Given the description of an element on the screen output the (x, y) to click on. 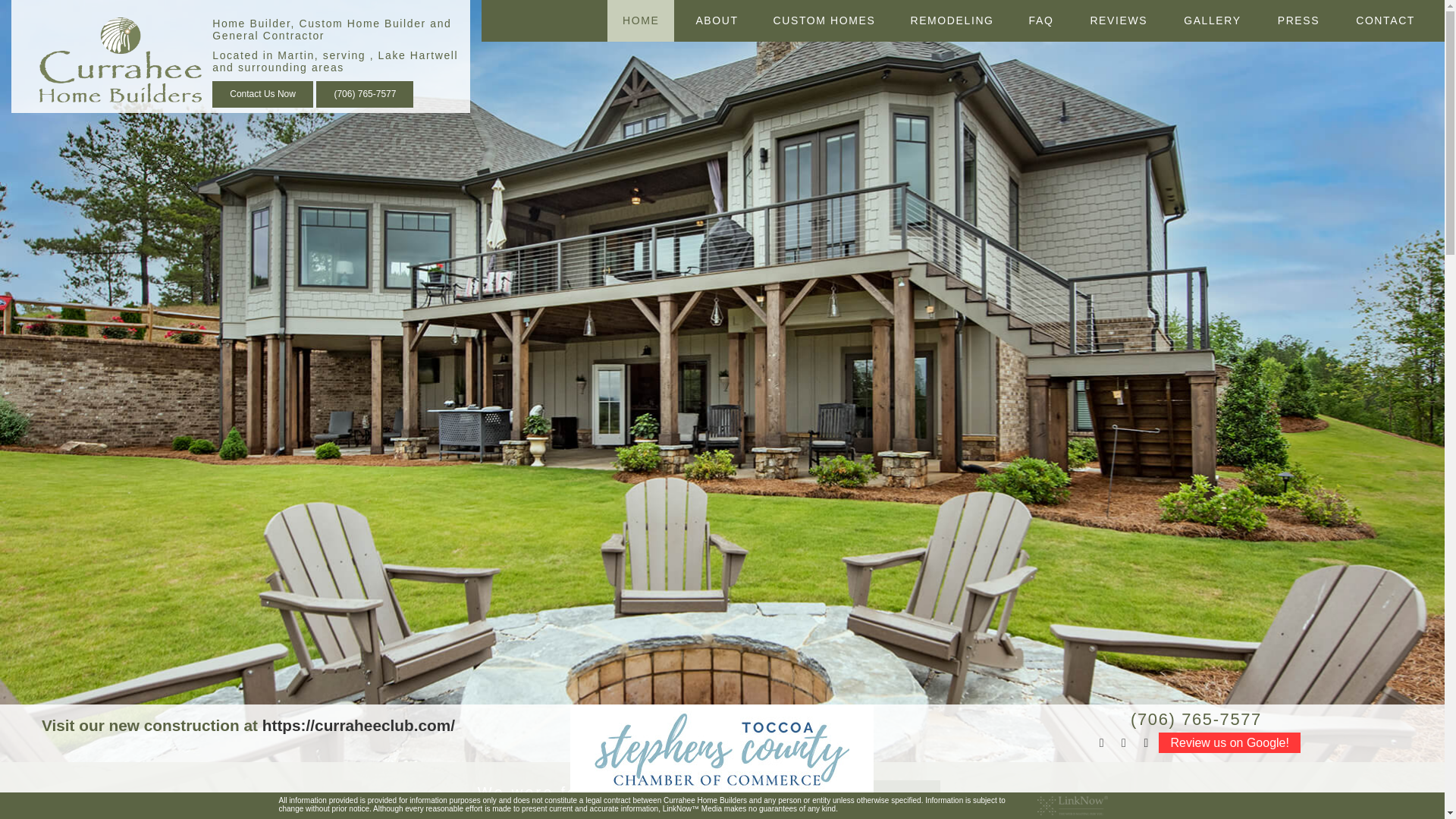
VIDEO (715, 109)
LEARN MORE (807, 793)
GENERAL CONTRACTOR (823, 155)
REMODELING CONTRACTOR (950, 109)
FAQ (1040, 20)
Google Maps (1146, 742)
SERVICE AREAS (715, 200)
Contact Us Now (262, 94)
PLANS (823, 63)
PRESS (1298, 20)
Review us on Google! (1229, 742)
GALLERY (1212, 20)
SOCIAL FEED (715, 155)
HOME (640, 20)
BATHROOM REMODELING (950, 63)
